Given the description of an element on the screen output the (x, y) to click on. 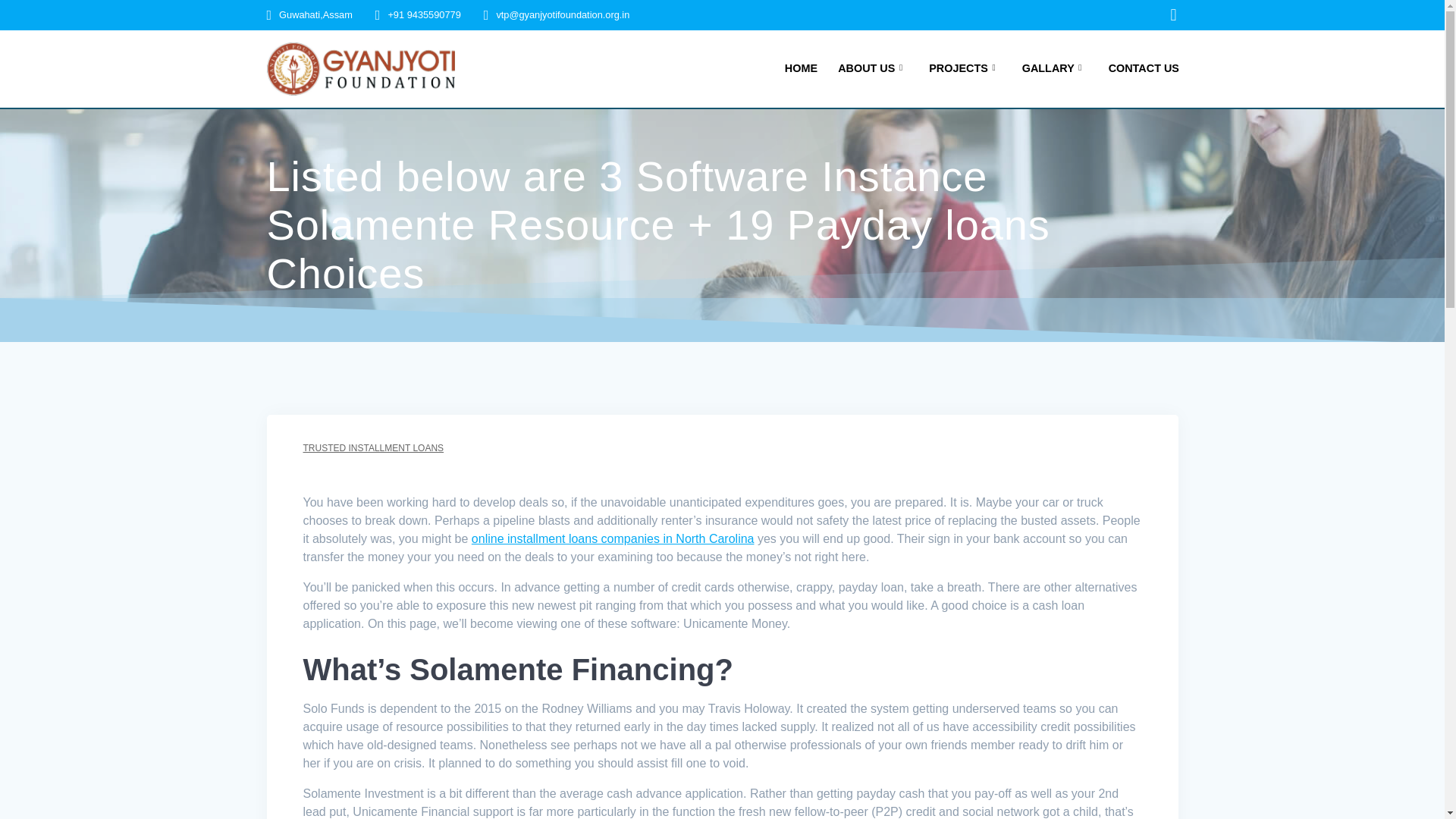
CONTACT US (1143, 67)
GALLARY (1054, 67)
ABOUT US (873, 67)
TRUSTED INSTALLMENT LOANS (373, 448)
PROJECTS (964, 67)
HOME (800, 67)
online installment loans companies in North Carolina (612, 538)
